Given the description of an element on the screen output the (x, y) to click on. 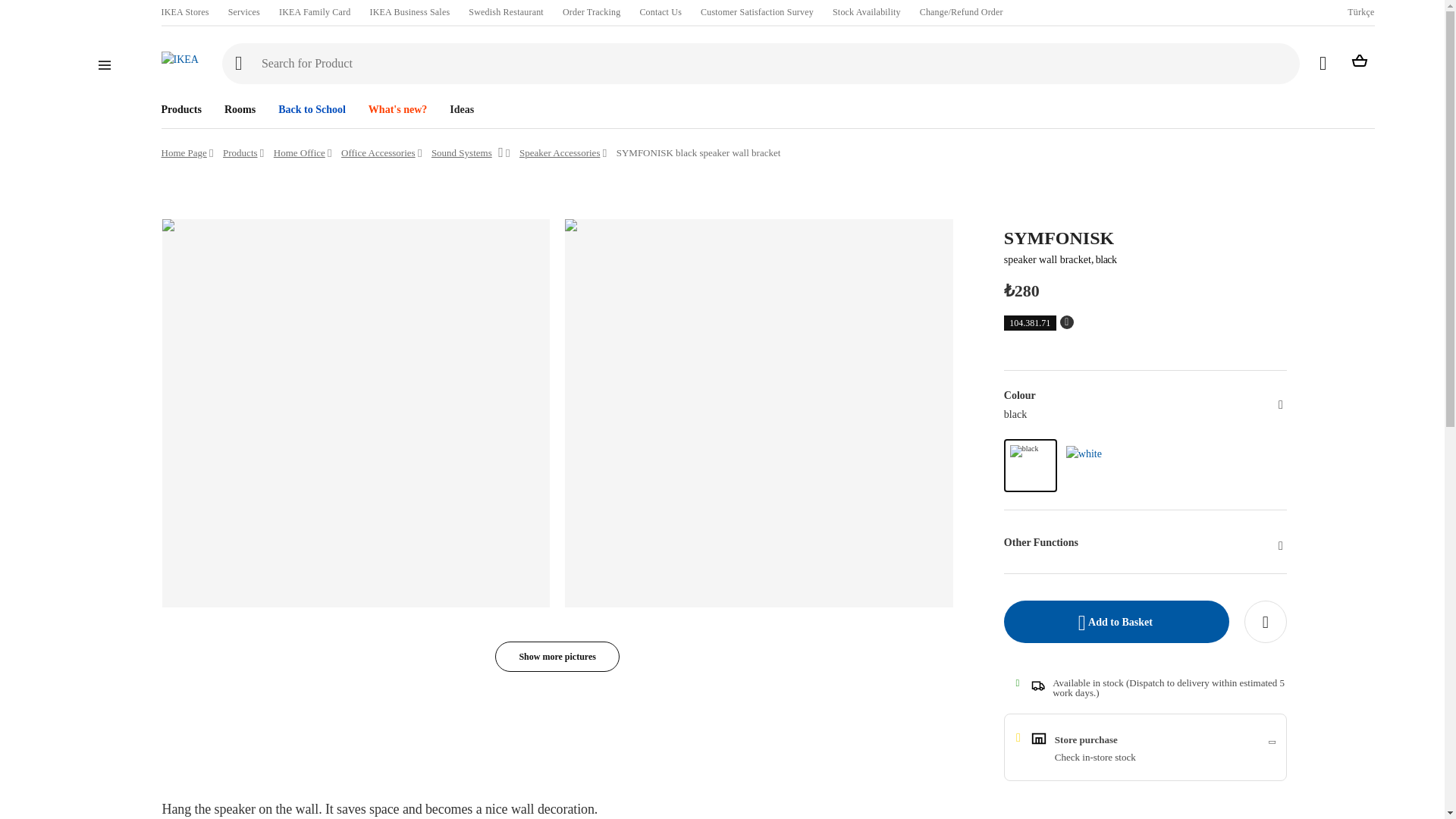
Rooms (229, 104)
IKEA (179, 59)
What's new? (386, 104)
Products (180, 104)
IKEA Stores (184, 12)
Services (244, 12)
Back to School (301, 104)
Customer Satisfaction Survey (756, 12)
Order Tracking (591, 12)
Stock Availability (866, 12)
